Given the description of an element on the screen output the (x, y) to click on. 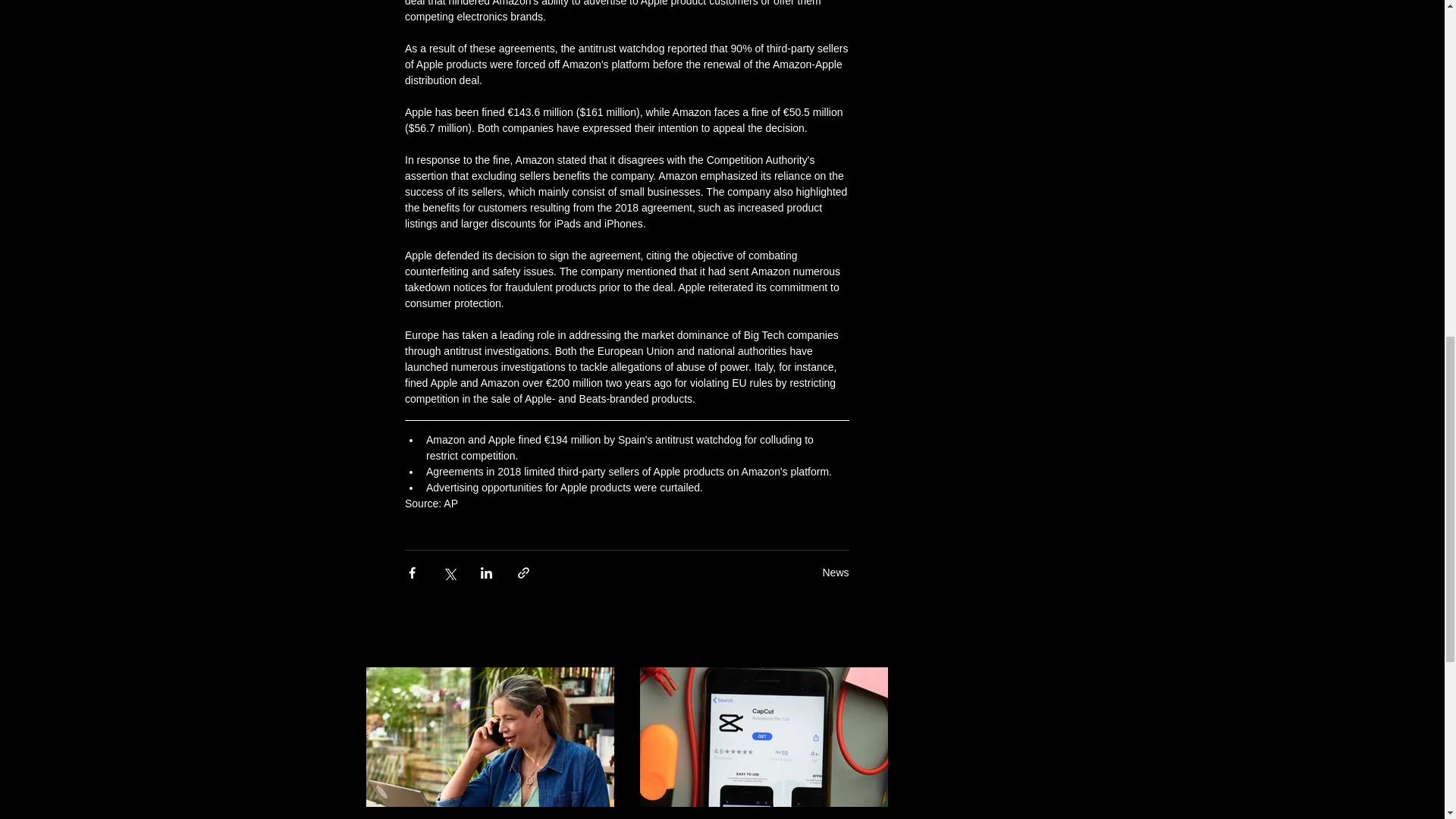
News (835, 572)
